Given the description of an element on the screen output the (x, y) to click on. 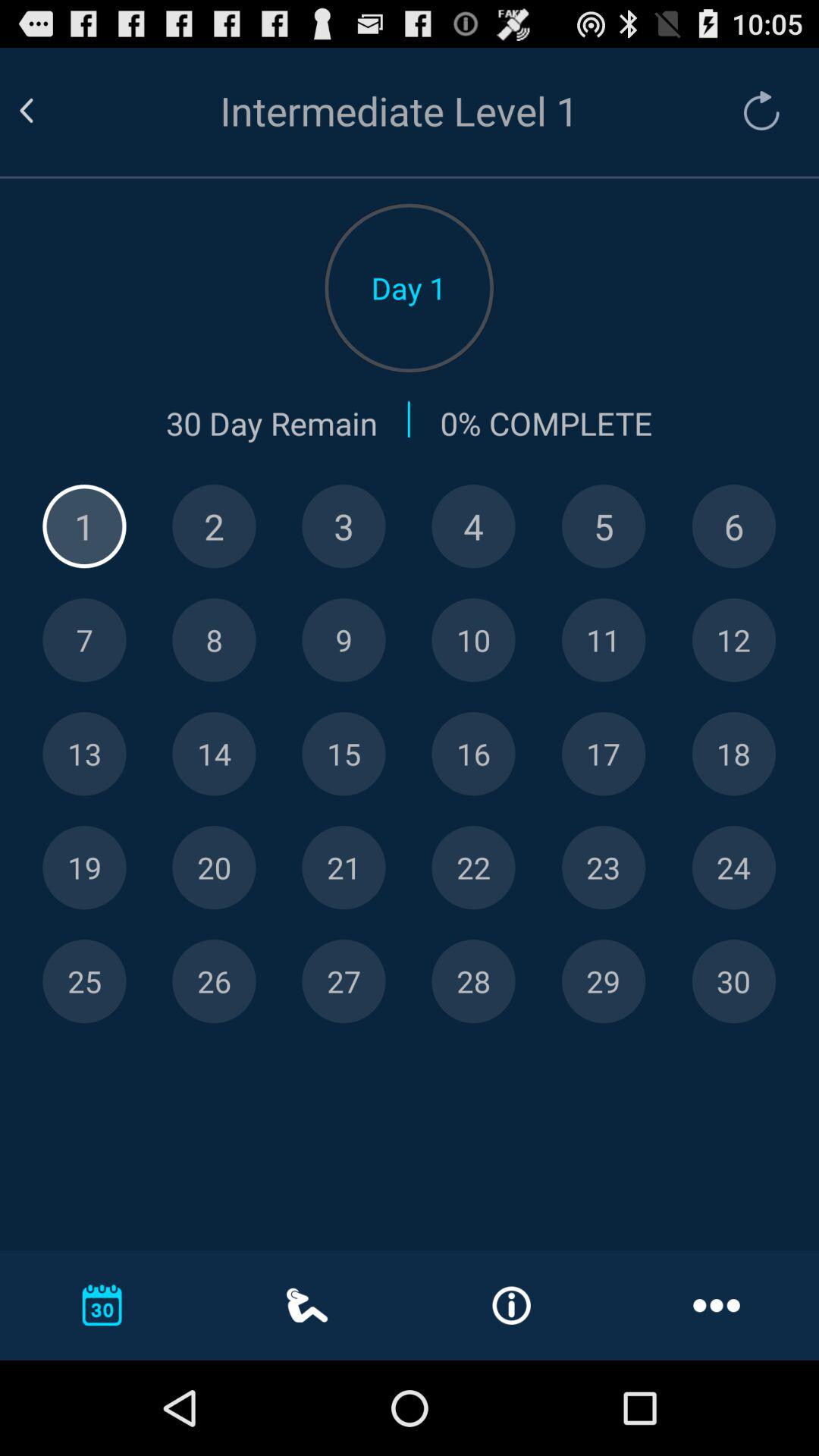
day 27 (343, 981)
